Given the description of an element on the screen output the (x, y) to click on. 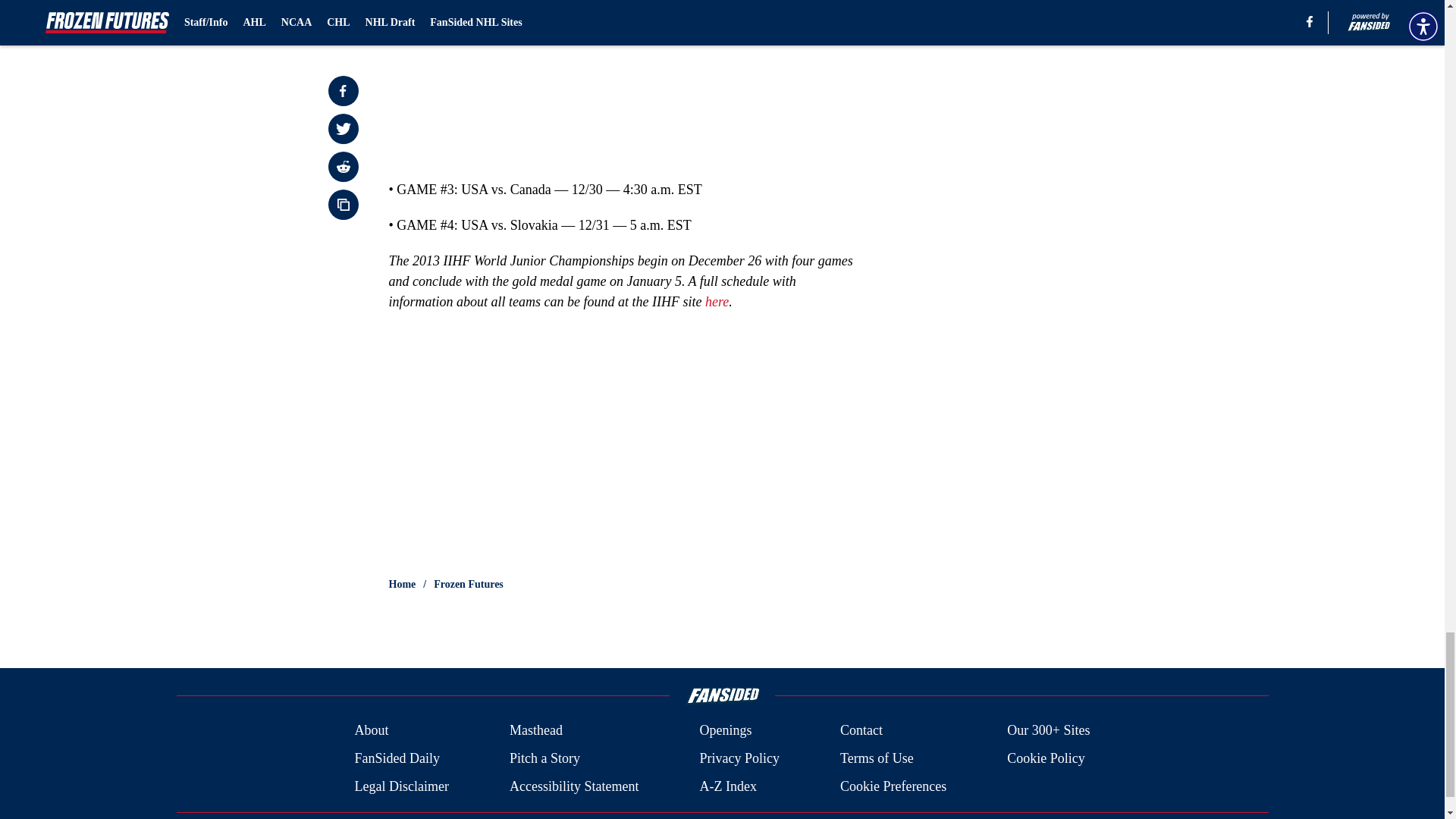
Home (401, 584)
Contact (861, 730)
Privacy Policy (738, 758)
Terms of Use (877, 758)
Accessibility Statement (574, 786)
Legal Disclaimer (400, 786)
Masthead (535, 730)
Frozen Futures (468, 584)
here (716, 301)
Cookie Preferences (893, 786)
Openings (724, 730)
Pitch a Story (544, 758)
About (370, 730)
FanSided Daily (396, 758)
Cookie Policy (1045, 758)
